Given the description of an element on the screen output the (x, y) to click on. 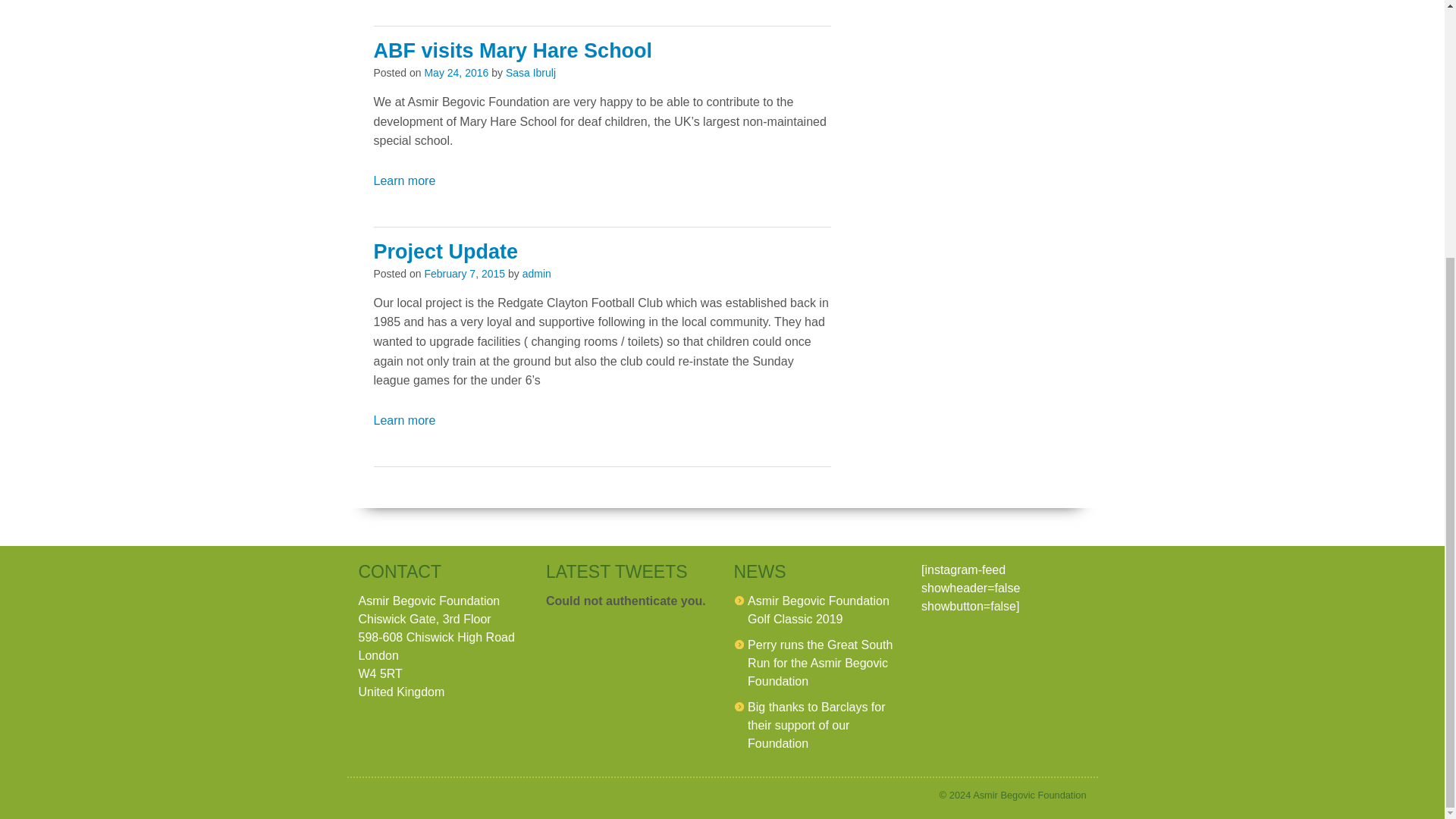
May 24, 2016 (455, 72)
Asmir Begovic Foundation (1029, 794)
February 7, 2015 (464, 273)
Big thanks to Barclays for their support of our Foundation (816, 725)
Asmir Begovic Foundation (1029, 794)
Learn more (403, 180)
View all posts by Sasa Ibrulj (530, 72)
Permalink to Project Update (445, 251)
Permalink to ABF visits Mary Hare School (512, 50)
admin (536, 273)
View all posts by admin (536, 273)
11:22 am (455, 72)
ABF visits Mary Hare School (512, 50)
Learn more (403, 420)
